Given the description of an element on the screen output the (x, y) to click on. 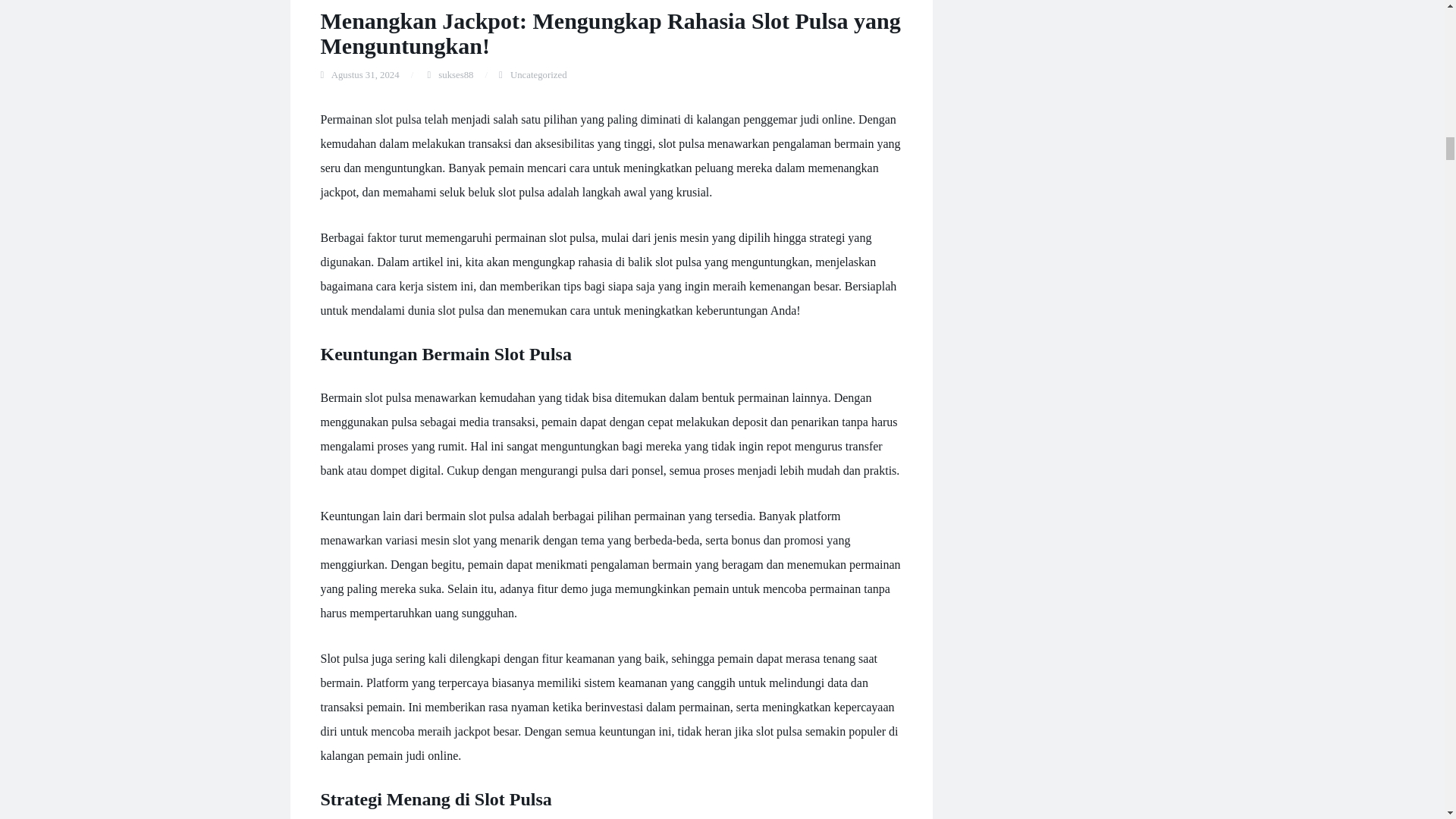
Agustus 31, 2024 (364, 74)
sukses88 (455, 74)
Uncategorized (539, 74)
